Given the description of an element on the screen output the (x, y) to click on. 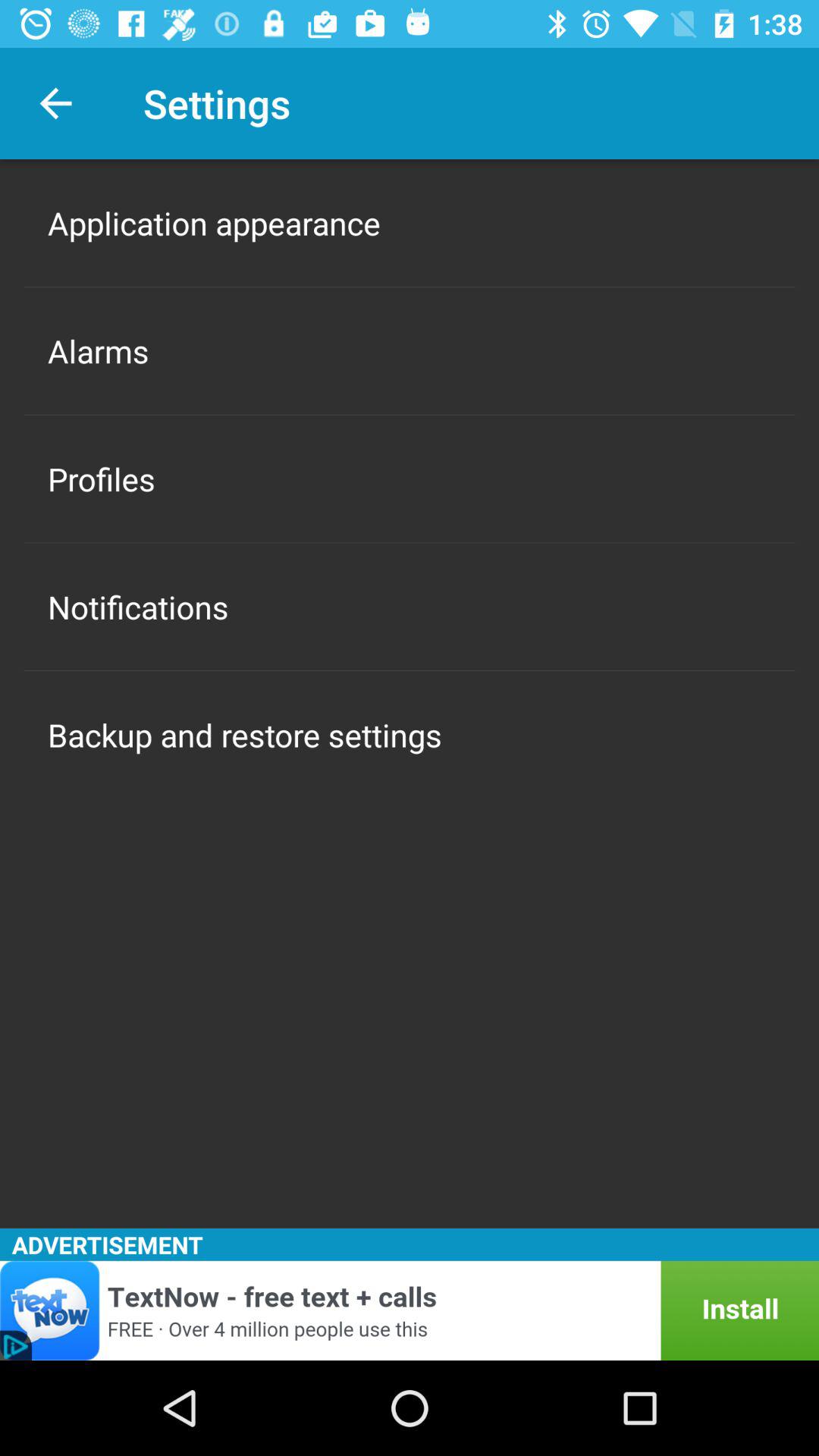
turn off icon next to the settings (55, 103)
